Given the description of an element on the screen output the (x, y) to click on. 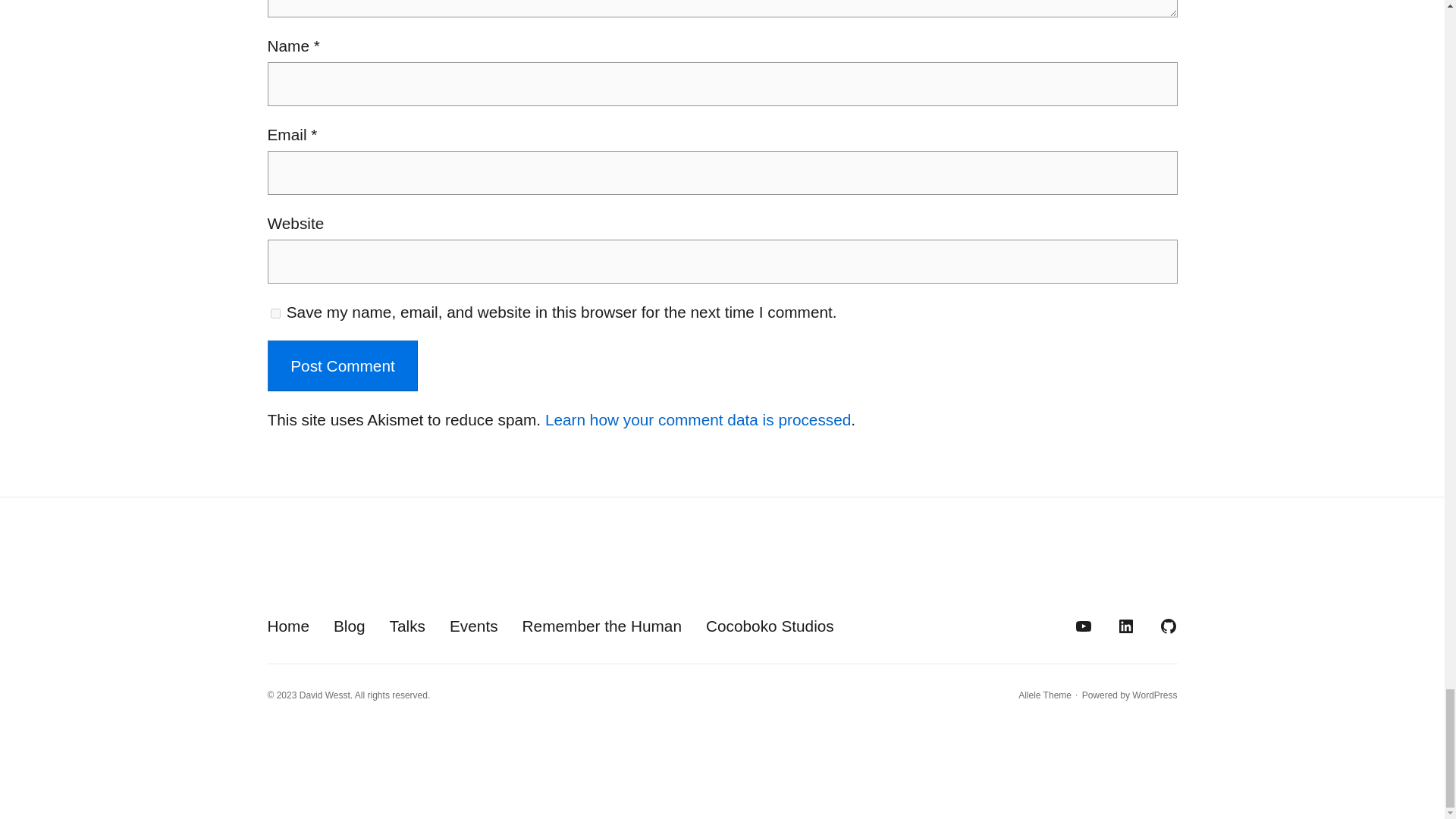
Post Comment (341, 365)
Post Comment (341, 365)
Remember the Human (601, 625)
Home (287, 625)
Blog (349, 625)
Events (473, 625)
Talks (407, 625)
Learn how your comment data is processed (697, 419)
